Given the description of an element on the screen output the (x, y) to click on. 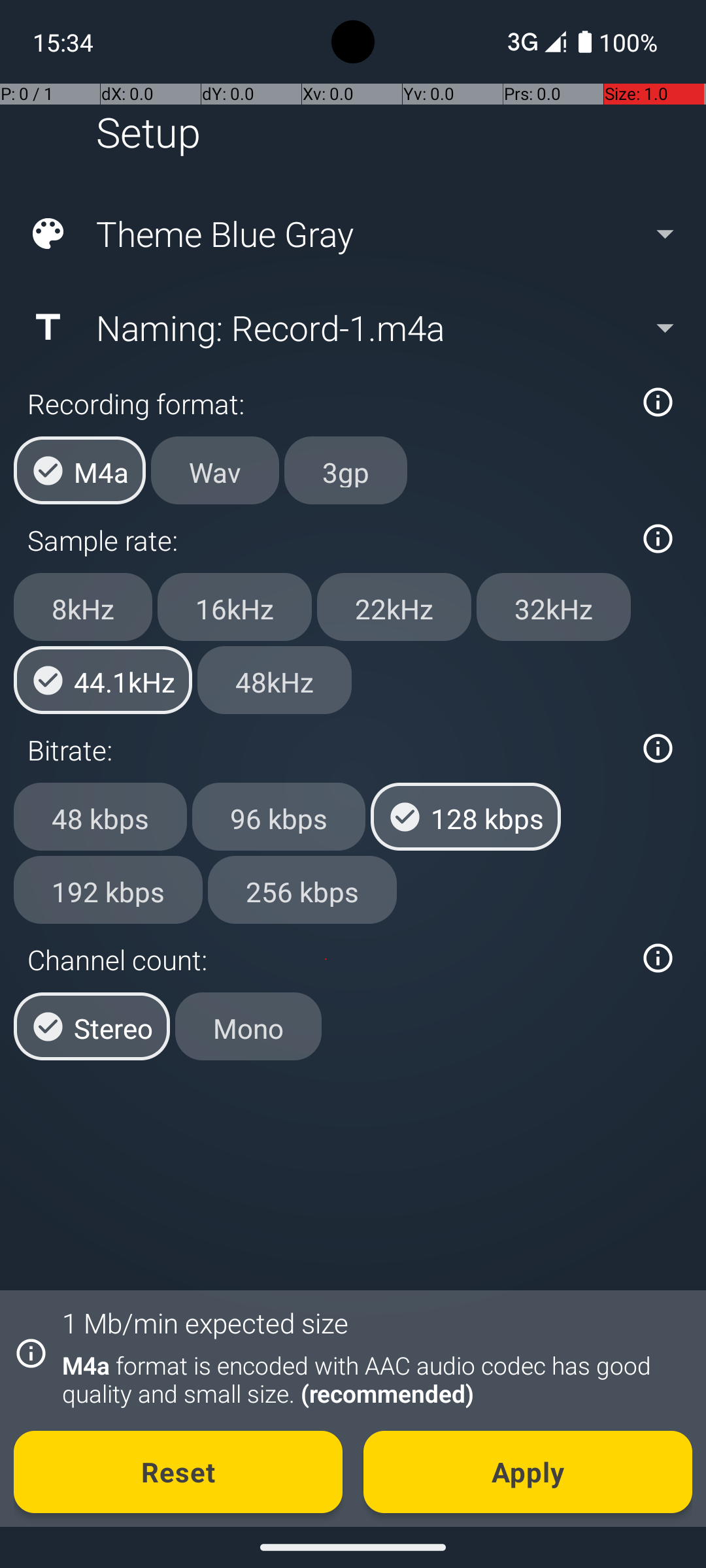
M4a format is encoded with AAC audio codec has good quality and small size. (recommended) Element type: android.widget.TextView (370, 1378)
